Given the description of an element on the screen output the (x, y) to click on. 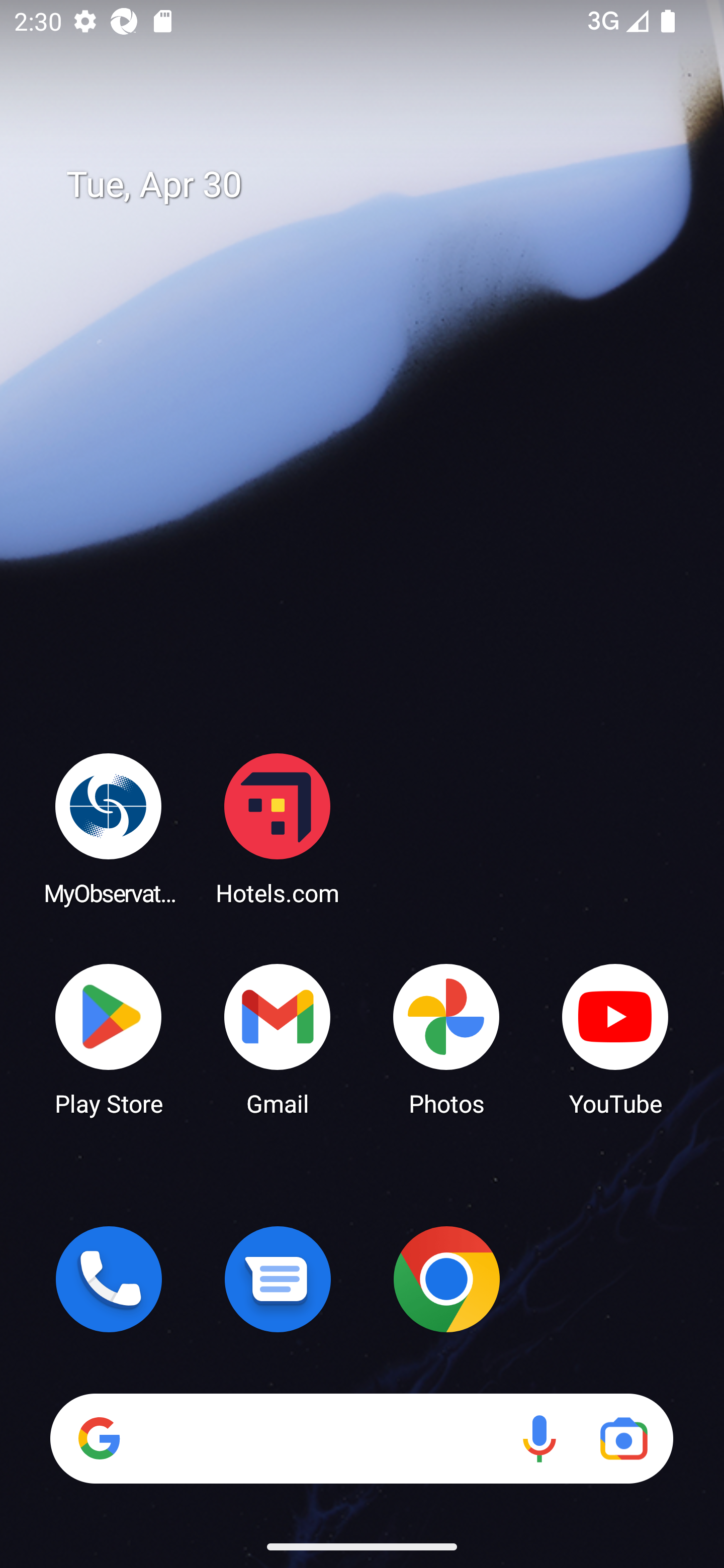
Tue, Apr 30 (375, 184)
MyObservatory (108, 828)
Hotels.com (277, 828)
Play Store (108, 1038)
Gmail (277, 1038)
Photos (445, 1038)
YouTube (615, 1038)
Phone (108, 1279)
Messages (277, 1279)
Chrome (446, 1279)
Search Voice search Google Lens (361, 1438)
Voice search (539, 1438)
Google Lens (623, 1438)
